Given the description of an element on the screen output the (x, y) to click on. 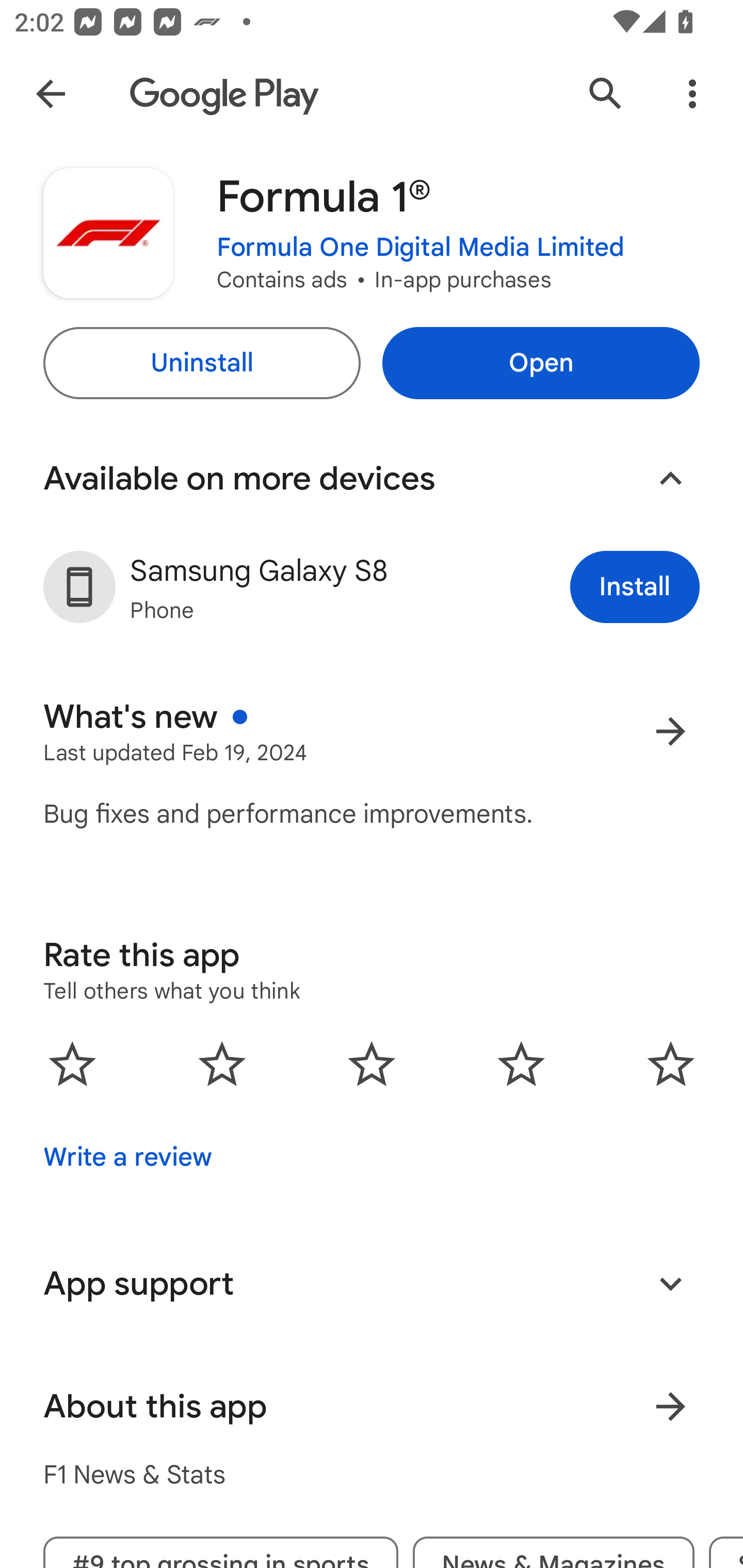
Navigate up (50, 93)
Search Google Play (605, 93)
More Options (692, 93)
Formula One Digital Media Limited (420, 247)
Uninstall (201, 362)
Open (540, 362)
Available on more devices Collapse (371, 478)
Collapse (670, 478)
Install (634, 587)
More results for What's new (670, 731)
0.0 (371, 1063)
Write a review (127, 1157)
App support Expand (371, 1284)
Expand (670, 1283)
About this app Learn more About this app (371, 1406)
Learn more About this app (670, 1406)
